Given the description of an element on the screen output the (x, y) to click on. 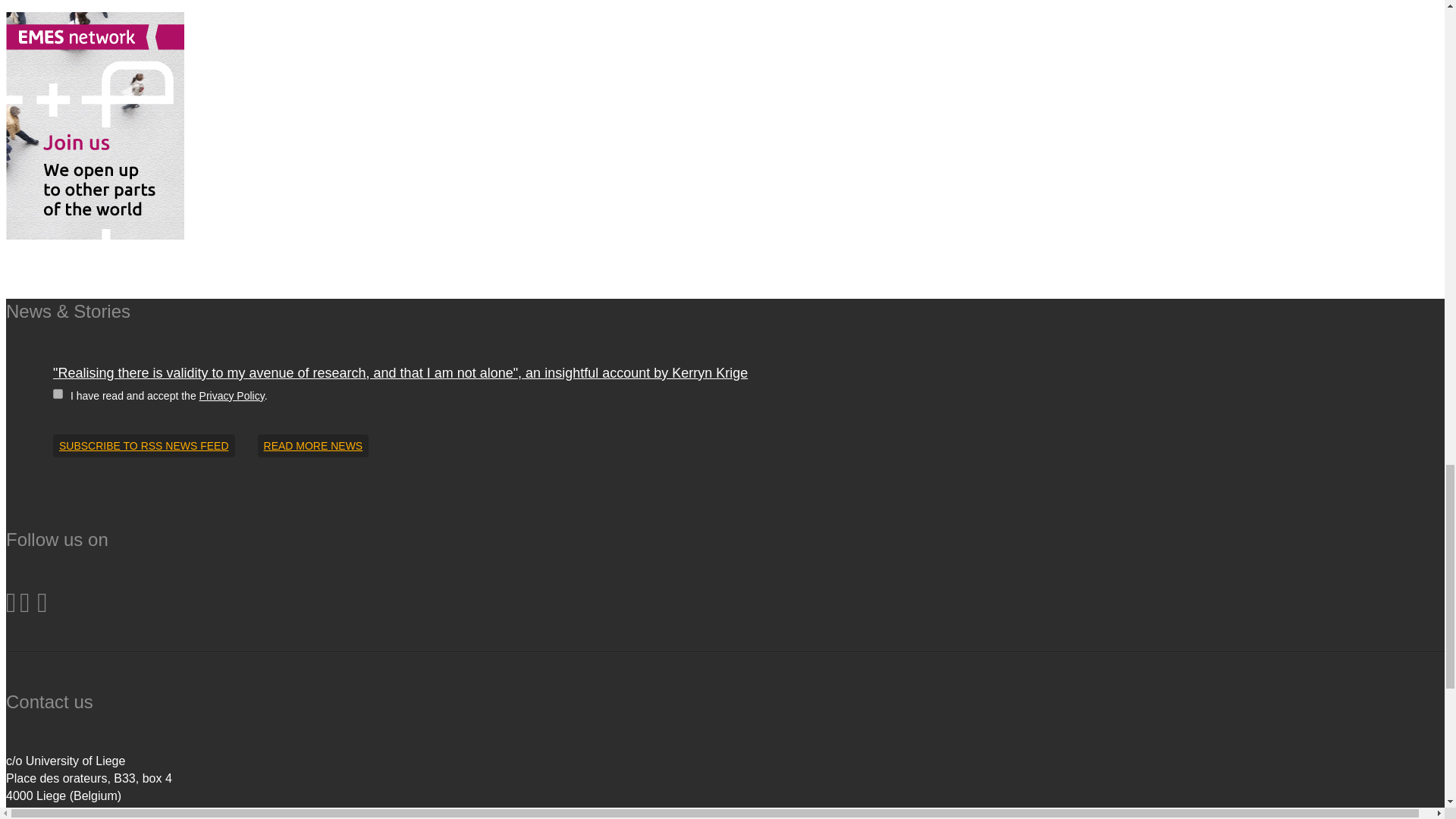
on (57, 393)
